Given the description of an element on the screen output the (x, y) to click on. 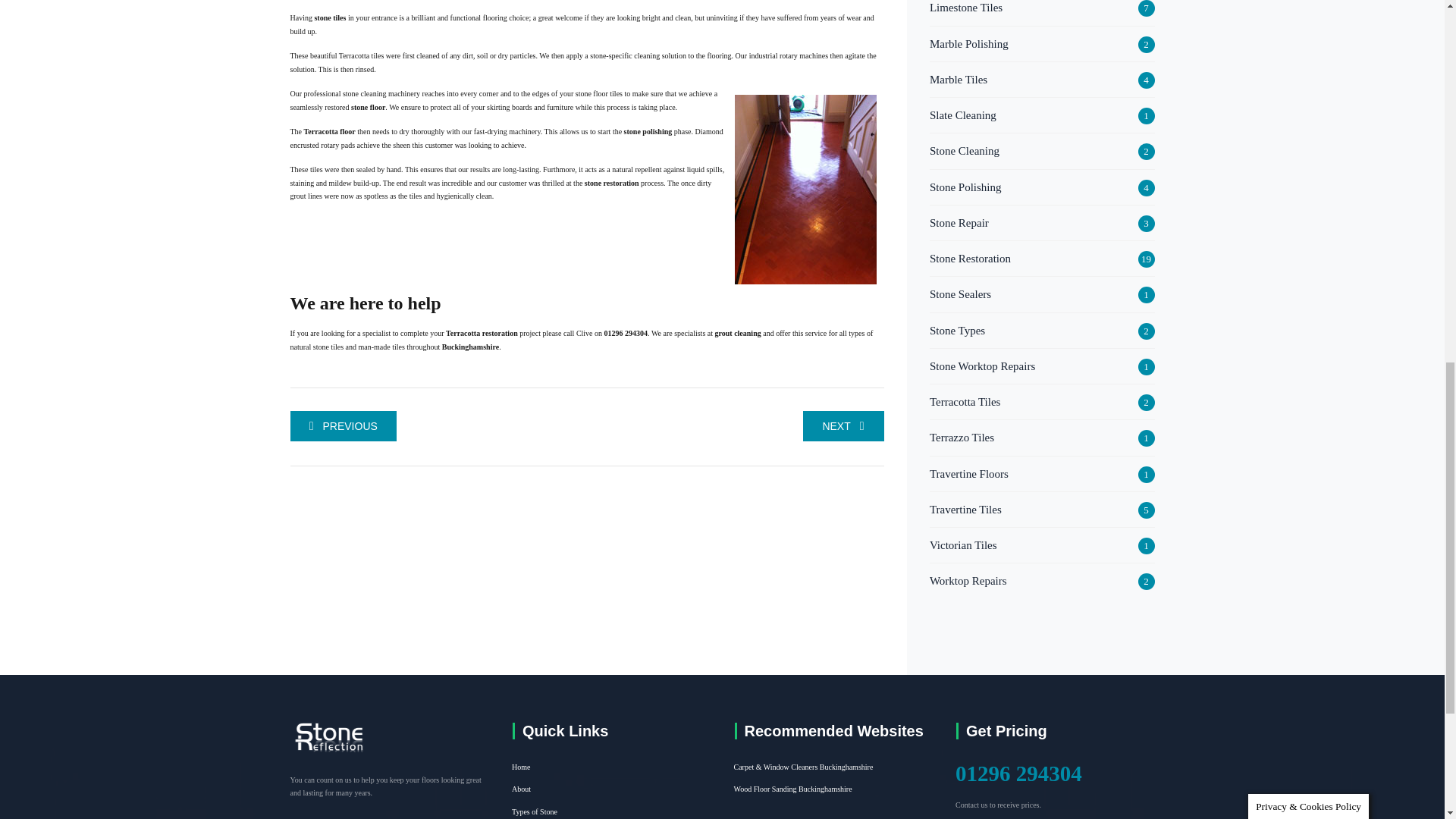
Services (737, 333)
Stone Polishing (965, 187)
Marble Cleaning High Wycombe (342, 426)
01296 294304 (625, 333)
PREVIOUS (342, 426)
floor sanding Buckinghamshire, wood floor cleaning Amersham (792, 788)
Stone Sealers (960, 293)
NEXT (843, 426)
Slate Cleaning (962, 115)
carpet cleaning, window cleaning buckinghamshire (803, 766)
Stone Cleaning (964, 150)
Stone Repair (959, 222)
Stone Restoration (970, 258)
Limestone Tiles (966, 8)
Marble Tiles (958, 79)
